Given the description of an element on the screen output the (x, y) to click on. 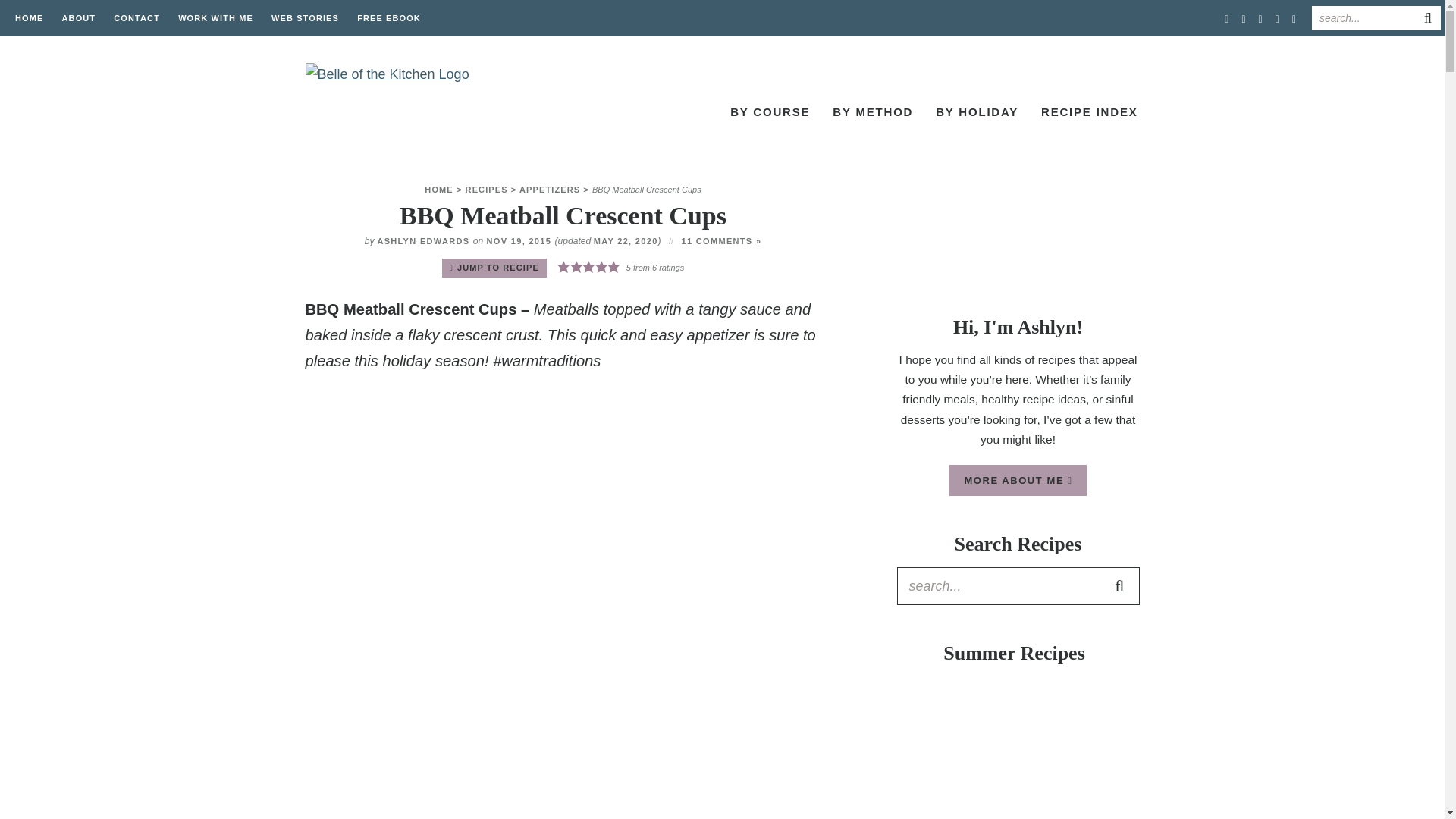
WORK WITH ME (215, 17)
ABOUT (79, 17)
Belle of the Kitchen (395, 110)
HOME (28, 17)
FREE EBOOK (388, 17)
CONTACT (136, 17)
WEB STORIES (304, 17)
BROWSE RECIPES (657, 114)
More About Me (1017, 241)
